Given the description of an element on the screen output the (x, y) to click on. 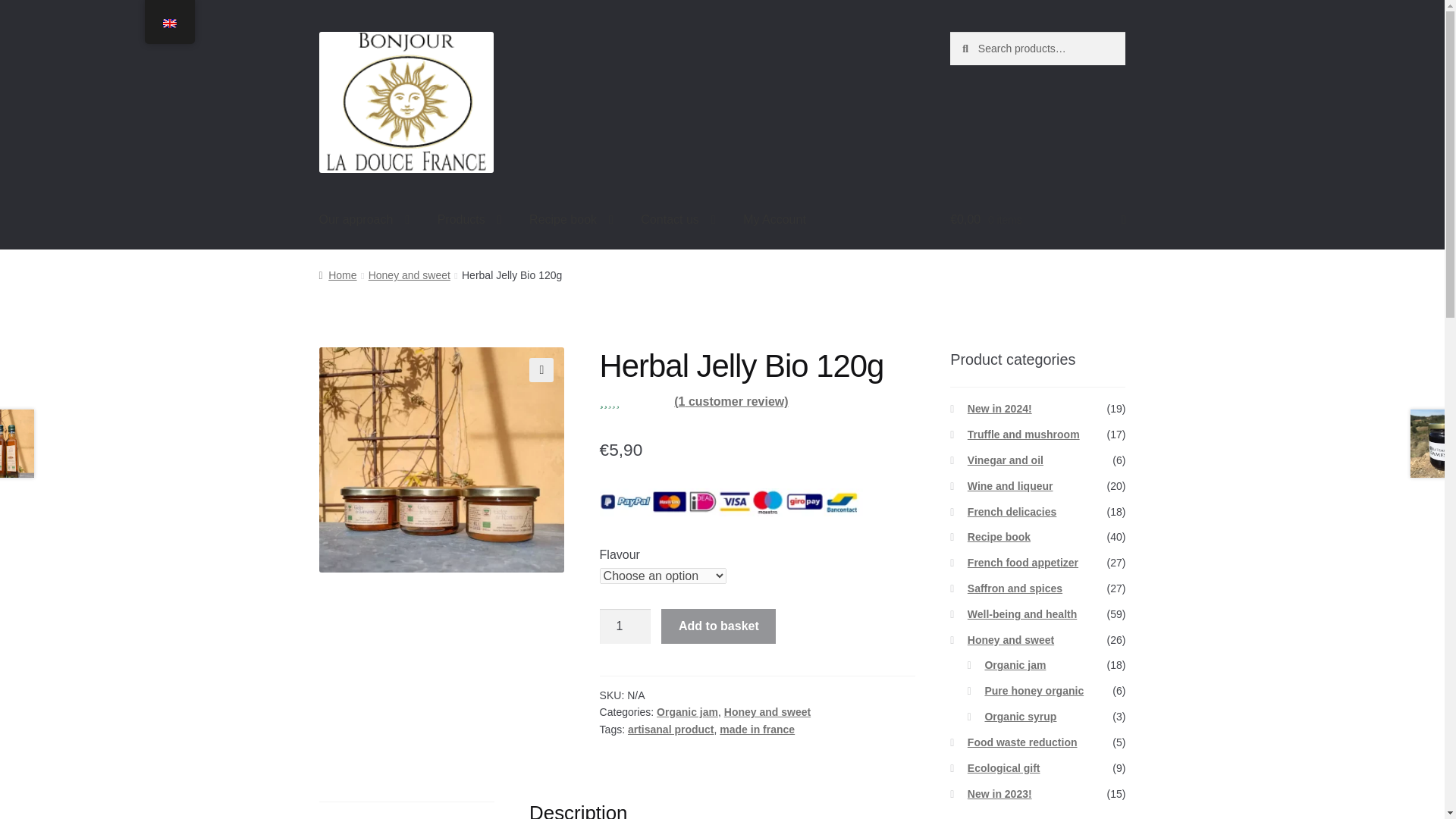
Our approach (364, 219)
1 (624, 626)
Products (469, 219)
View your shopping basket (1037, 219)
